Given the description of an element on the screen output the (x, y) to click on. 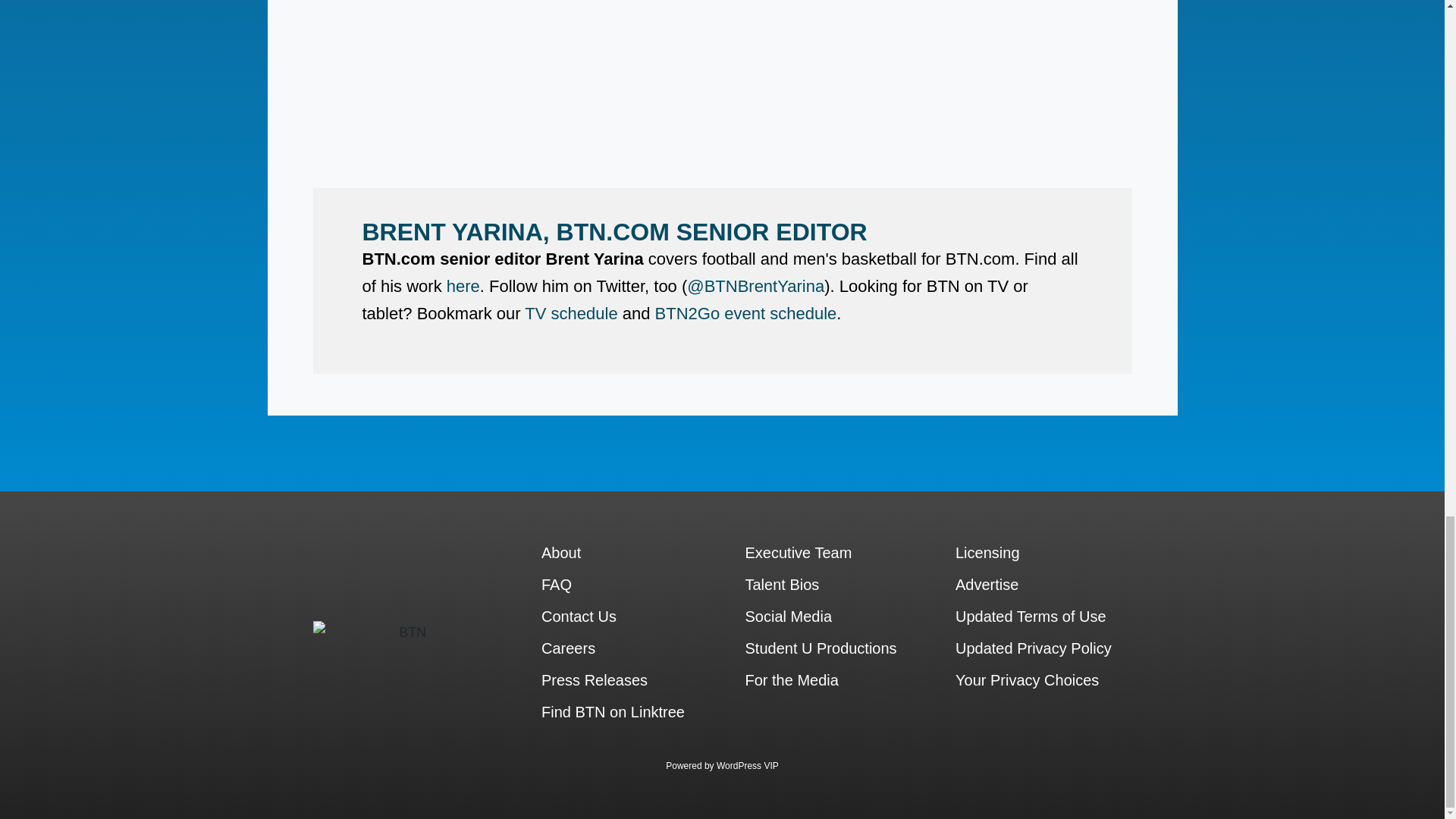
SEARCH (818, 433)
About (327, 446)
FAQ (1012, 469)
icon-base-livebig-mobile (45, 394)
icon-base-livebig-mobile (45, 393)
Contact Us (327, 469)
Icon-base-btn-plus-mobile (45, 348)
Sign up and watch now. (802, 246)
icon--base-tv-mobile (45, 302)
Icon-base-btn-plus-mobile (45, 347)
